Given the description of an element on the screen output the (x, y) to click on. 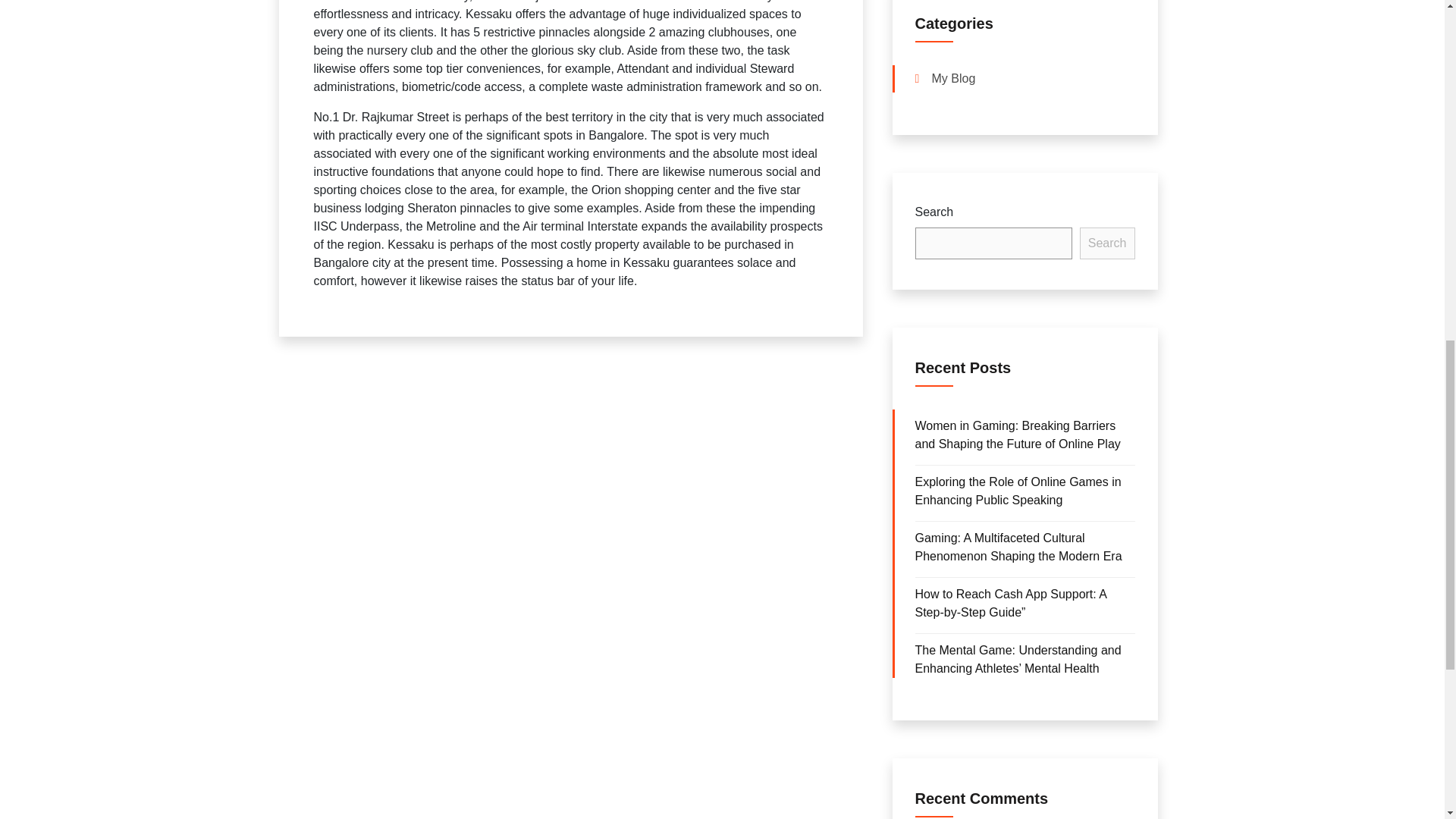
My Blog (953, 78)
Search (1107, 243)
